Given the description of an element on the screen output the (x, y) to click on. 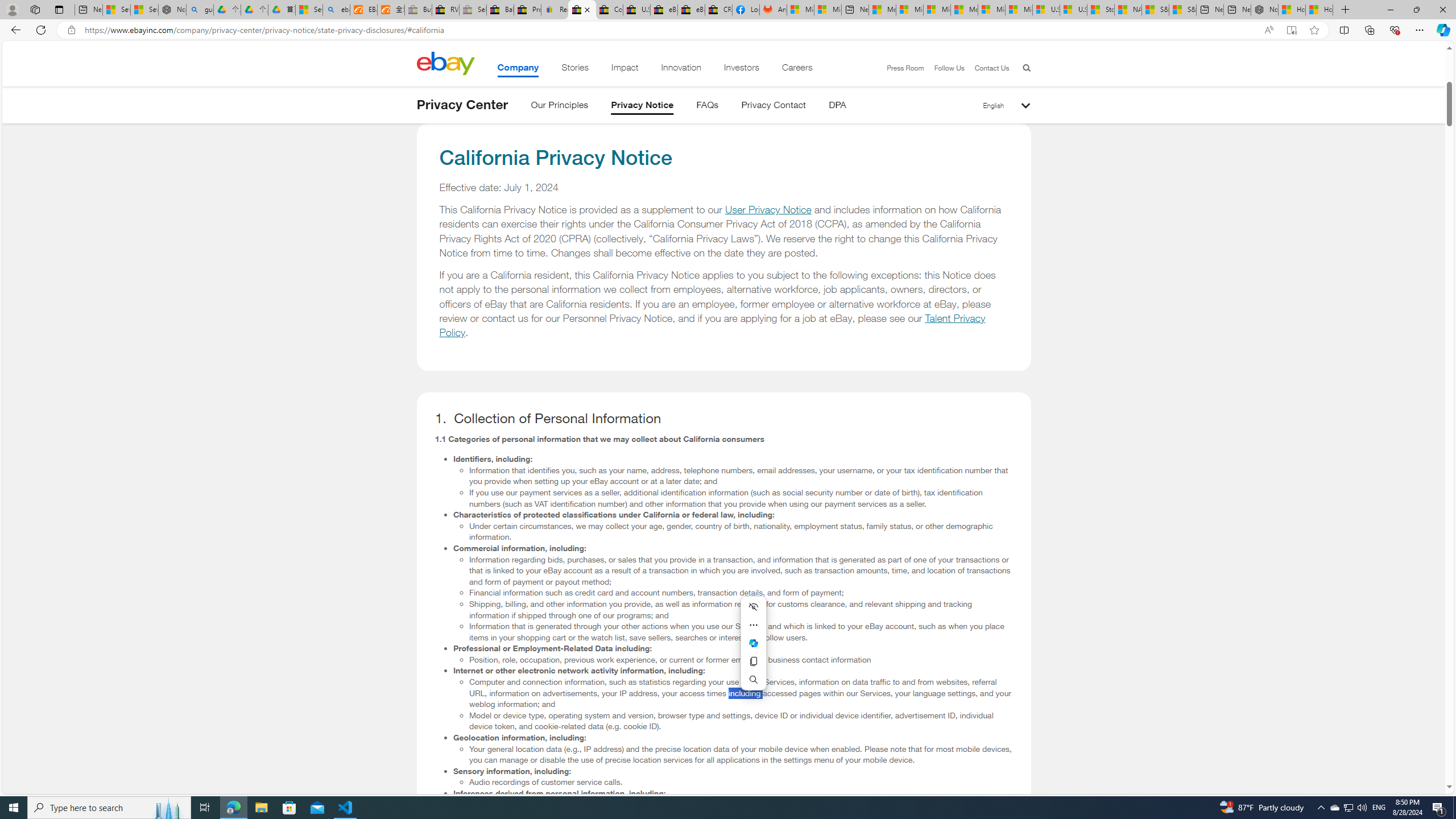
Mini menu on text selection (753, 642)
RV, Trailer & Camper Steps & Ladders for sale | eBay (445, 9)
Mini menu on text selection (754, 650)
Ask Copilot (753, 642)
Privacy Contact (773, 107)
